Given the description of an element on the screen output the (x, y) to click on. 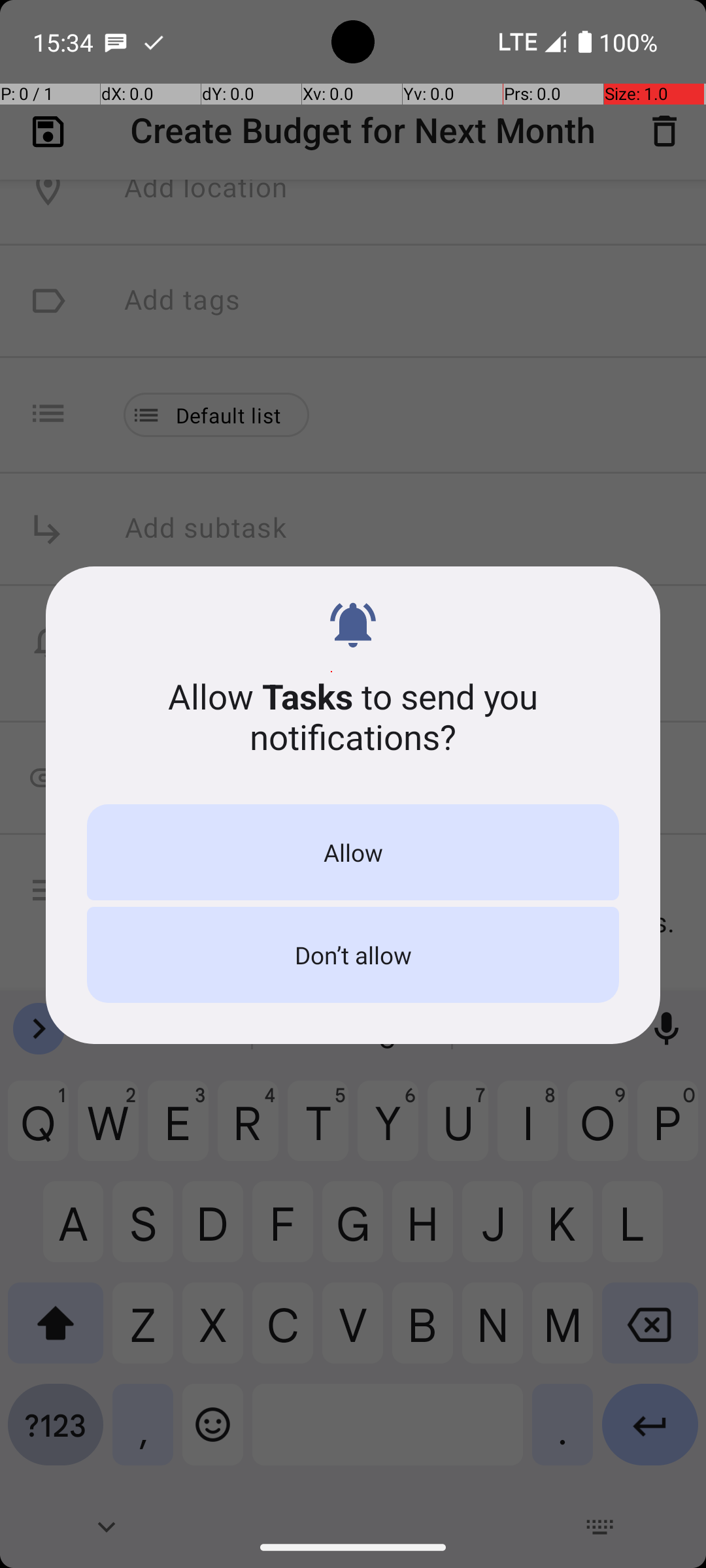
Allow Tasks to send you notifications? Element type: android.widget.TextView (352, 715)
